Given the description of an element on the screen output the (x, y) to click on. 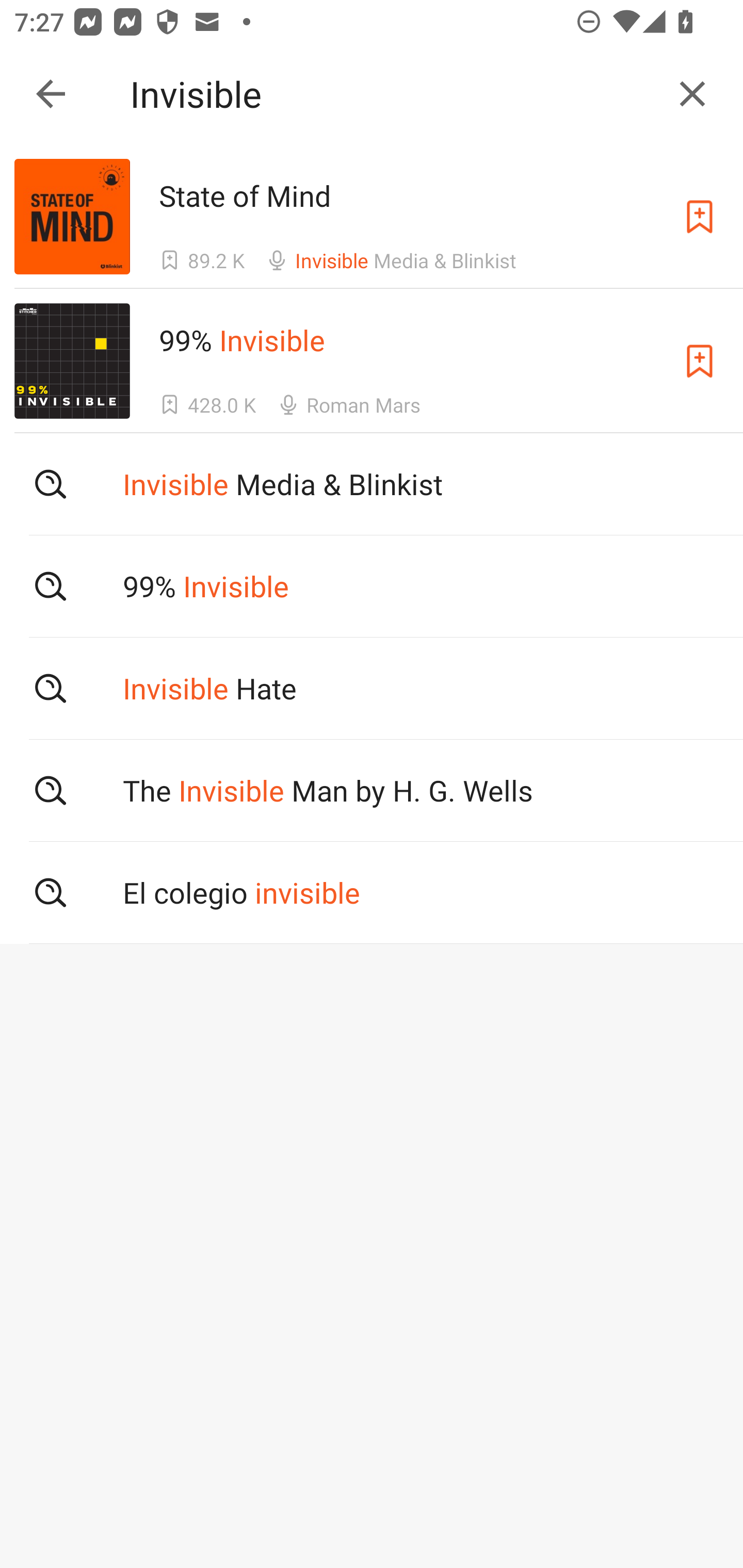
Collapse (50, 93)
Clear query (692, 93)
Invisible (393, 94)
Subscribe (699, 216)
Subscribe (699, 360)
 Invisible Media & Blinkist (371, 483)
 99% Invisible (371, 585)
 Invisible Hate (371, 688)
 The Invisible Man by H. G. Wells (371, 791)
 El colegio invisible (371, 892)
